Given the description of an element on the screen output the (x, y) to click on. 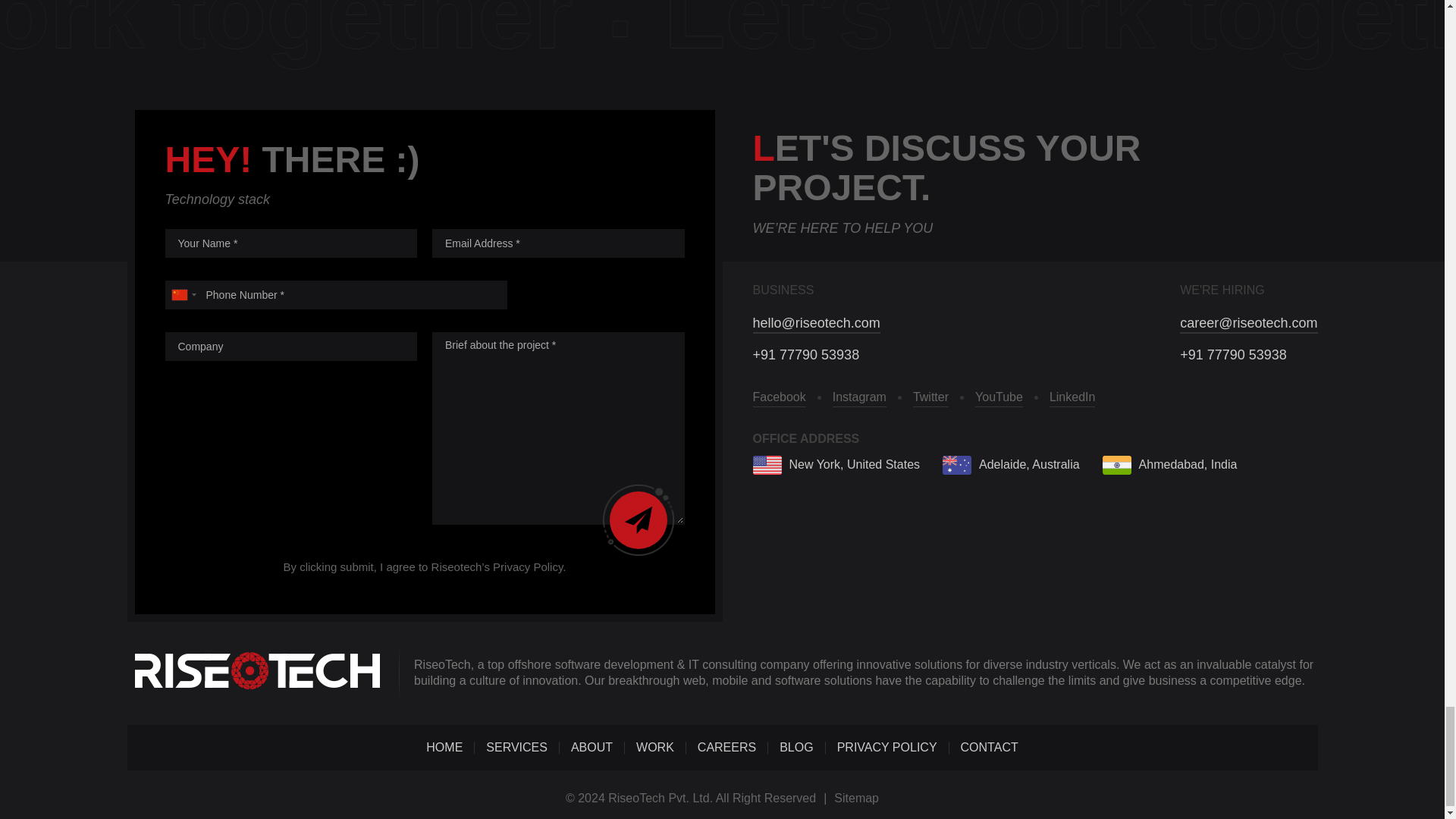
Sitemap (856, 797)
BLOG (795, 747)
HOME (444, 747)
Twitter (930, 397)
SERVICES (516, 747)
CAREERS (726, 747)
Facebook (778, 397)
LinkedIn (1072, 397)
ABOUT (591, 747)
Instagram (859, 397)
Submit (638, 519)
YouTube (999, 397)
PRIVACY POLICY (887, 747)
WORK (655, 747)
Submit (638, 519)
